Given the description of an element on the screen output the (x, y) to click on. 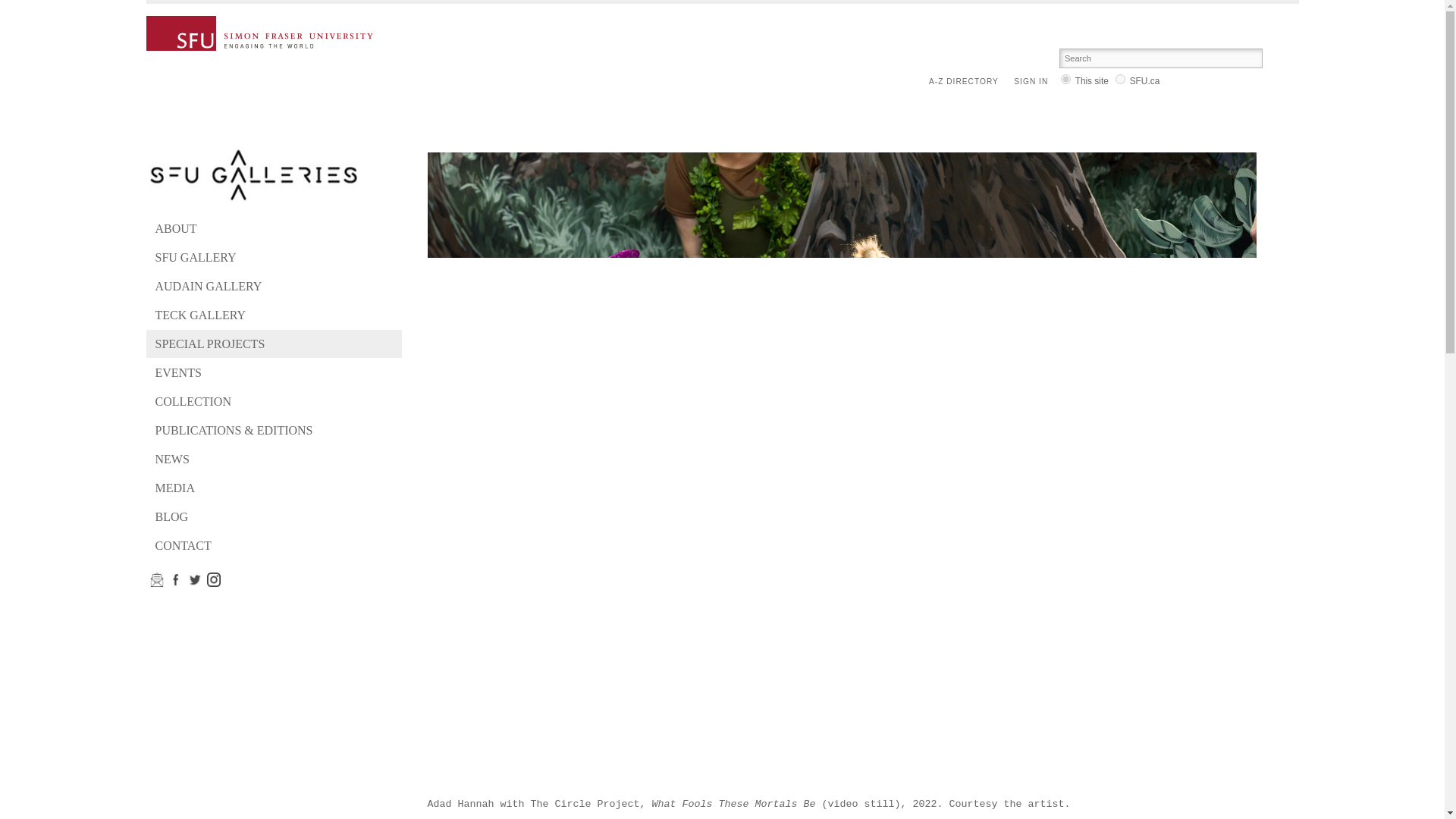
site (1065, 79)
Twitter (194, 579)
Subscribe (156, 579)
Facebook (175, 579)
Subscribe (213, 579)
SIGN IN (1034, 82)
A-Z DIRECTORY (967, 82)
sfu (1120, 79)
